Given the description of an element on the screen output the (x, y) to click on. 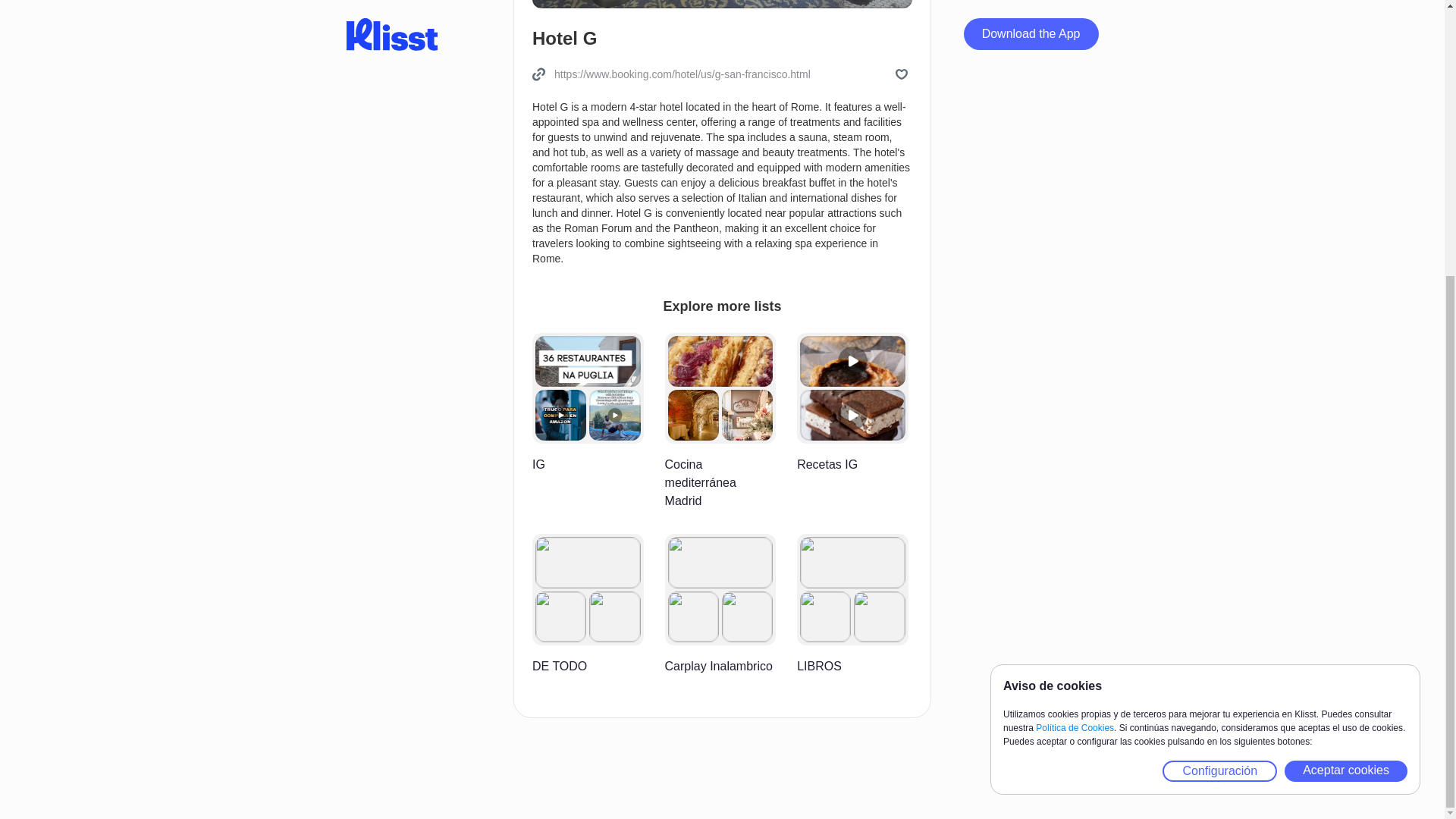
Aceptar cookies (1345, 362)
